Given the description of an element on the screen output the (x, y) to click on. 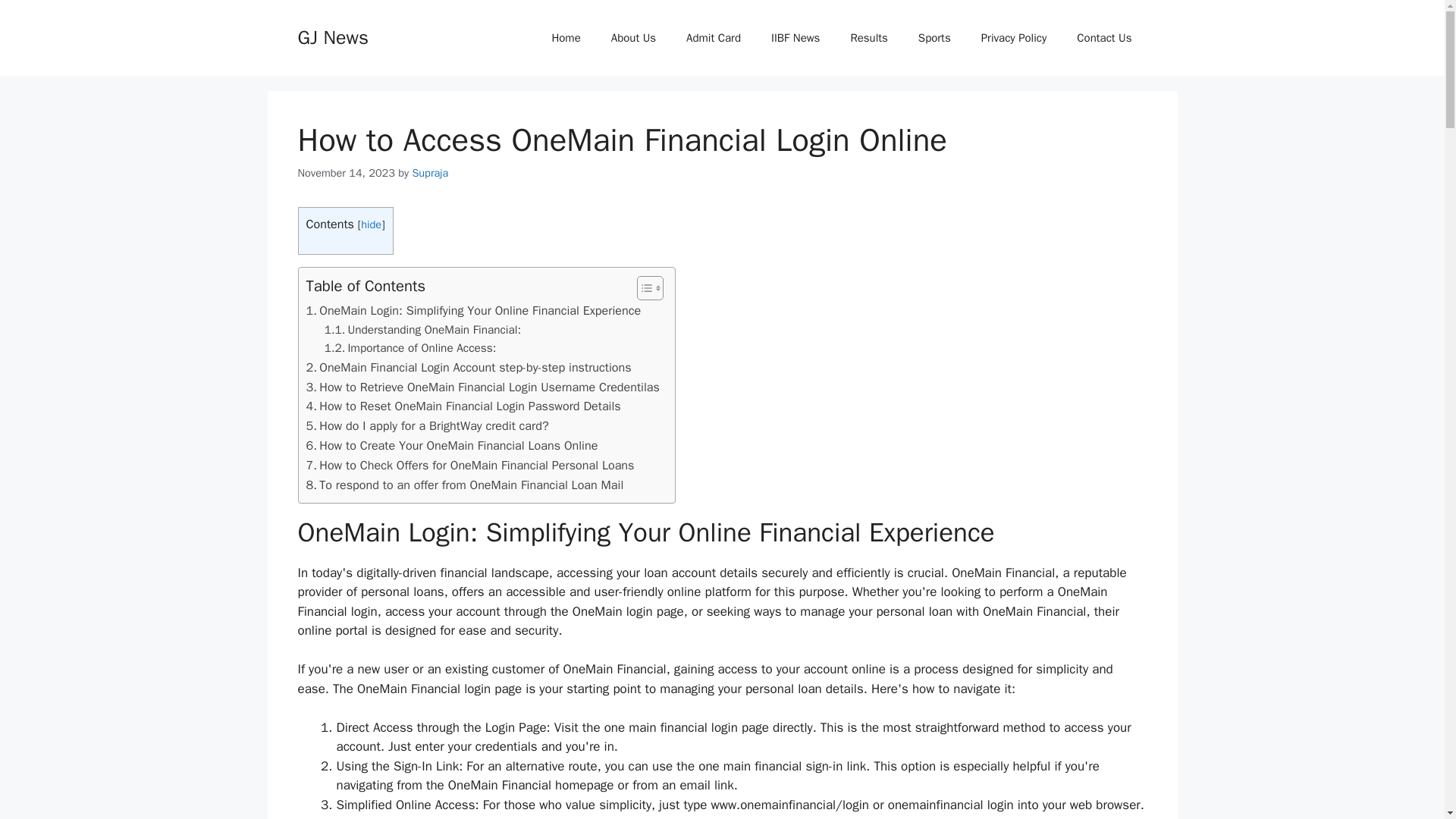
How do I apply for a BrightWay credit card? (426, 425)
How to Retrieve OneMain Financial Login Username Credentilas (482, 387)
Importance of Online Access: (410, 348)
Results (868, 37)
Privacy Policy (1014, 37)
How to Create Your OneMain Financial Loans Online (451, 445)
How to Check Offers for OneMain Financial Personal Loans (469, 465)
IIBF News (794, 37)
To respond to an offer from OneMain Financial Loan Mail (464, 485)
GJ News (332, 37)
How to Reset OneMain Financial Login Password Details (463, 406)
Supraja (430, 172)
Admit Card (713, 37)
Understanding OneMain Financial: (422, 330)
How to Create Your OneMain Financial Loans Online (451, 445)
